Given the description of an element on the screen output the (x, y) to click on. 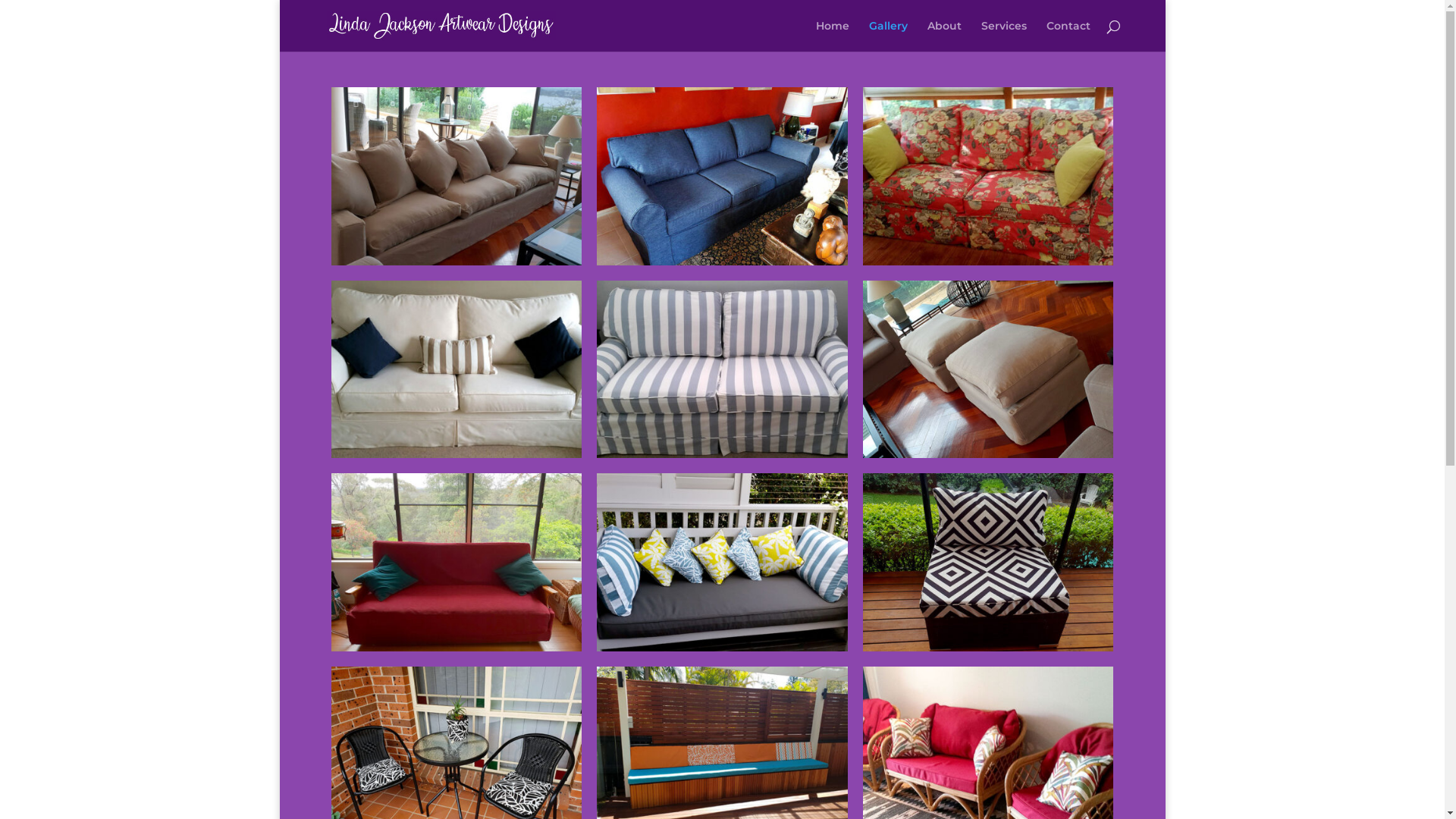
Outdoor Seat covers Element type: hover (987, 647)
2 1/2 half Seater Sofa Cover Element type: hover (456, 454)
Contact Element type: text (1068, 35)
3 Seater Sofa Cover Element type: hover (721, 261)
3 Seater Sofa Covers Element type: hover (456, 261)
Services Element type: text (1003, 35)
2 1/2 half Seater Sofa Cover Element type: hover (987, 261)
Sofa Day Bed Cover Element type: hover (456, 647)
Gallery Element type: text (888, 35)
Ottoman Covers Element type: hover (987, 454)
Home Element type: text (832, 35)
About Element type: text (944, 35)
Outdoor Sofa Cover & Scatter Cushions Element type: hover (721, 647)
2 1/2 Seater Sofa Cover Element type: hover (721, 454)
